Given the description of an element on the screen output the (x, y) to click on. 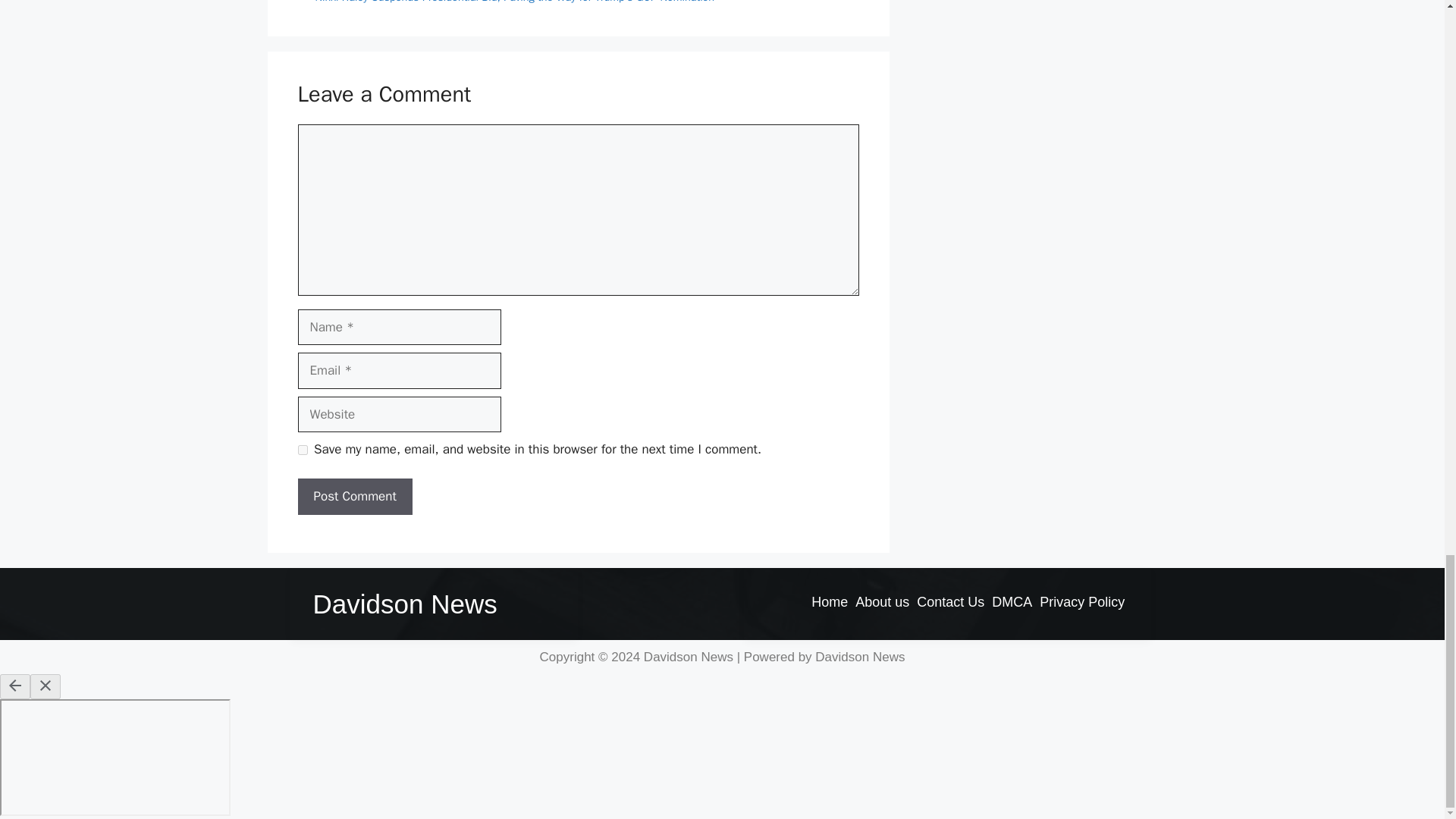
Post Comment (354, 496)
yes (302, 450)
About us (881, 601)
Contact Us (950, 601)
Home (829, 601)
Privacy Policy (1081, 601)
Davidson News (404, 603)
Post Comment (354, 496)
DMCA (1011, 601)
